Given the description of an element on the screen output the (x, y) to click on. 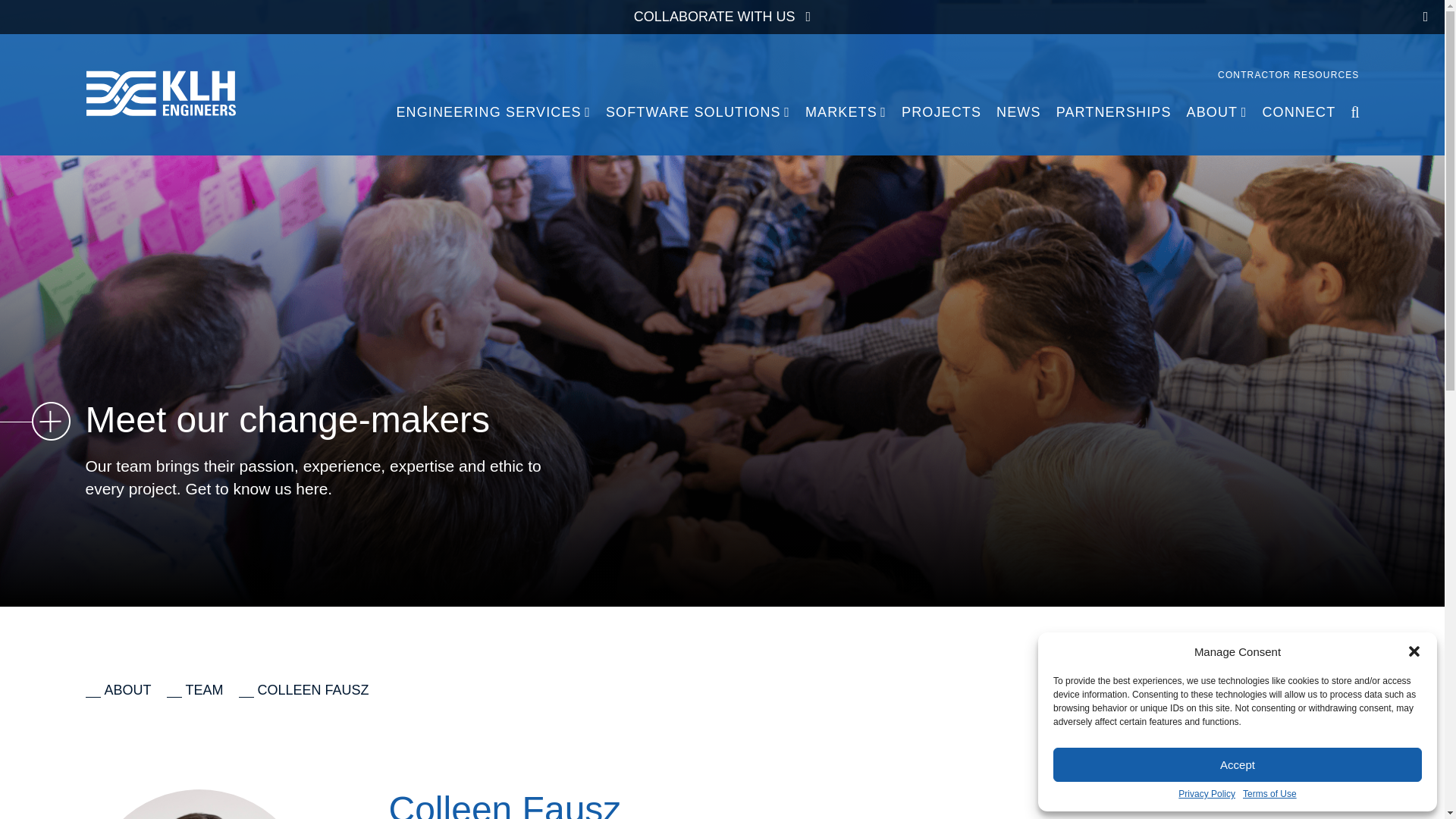
Terms of Use (1270, 794)
ENGINEERING SERVICES (493, 112)
Privacy Policy (1205, 794)
Accept (1237, 764)
COLLABORATE WITH US (721, 16)
